Given the description of an element on the screen output the (x, y) to click on. 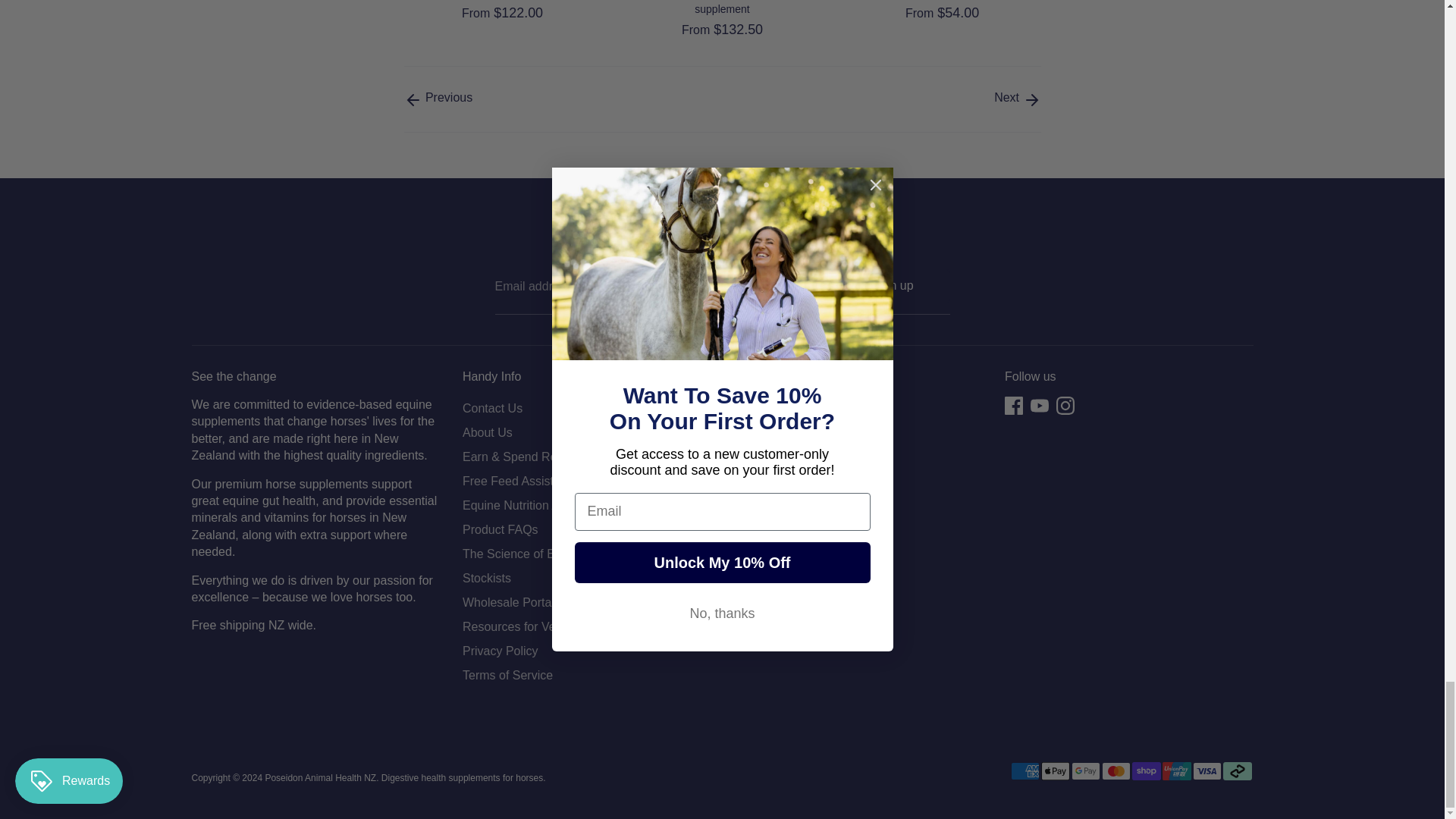
Mastercard (1114, 771)
Google Pay (1084, 771)
American Express (1024, 771)
Shop Pay (1145, 771)
Apple Pay (1054, 771)
